Given the description of an element on the screen output the (x, y) to click on. 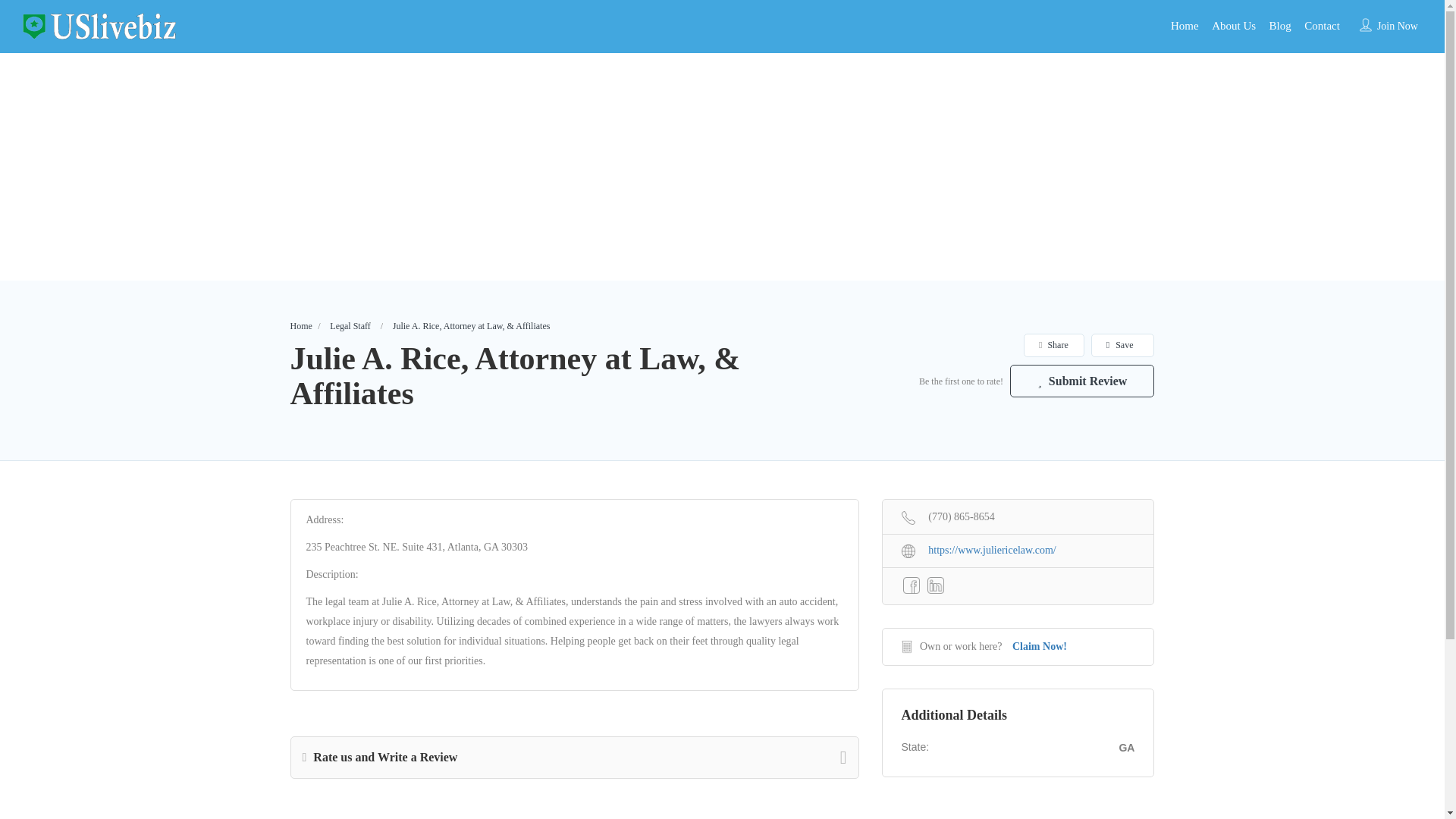
Home (1184, 25)
Legal Staff (349, 326)
Sign in (721, 464)
Share (1053, 345)
Submit (413, 502)
Submit Review (1082, 380)
Blog (1280, 25)
Join Now (1397, 25)
Contact (1321, 25)
Home (300, 326)
Save (1122, 345)
About Us (1233, 25)
